Given the description of an element on the screen output the (x, y) to click on. 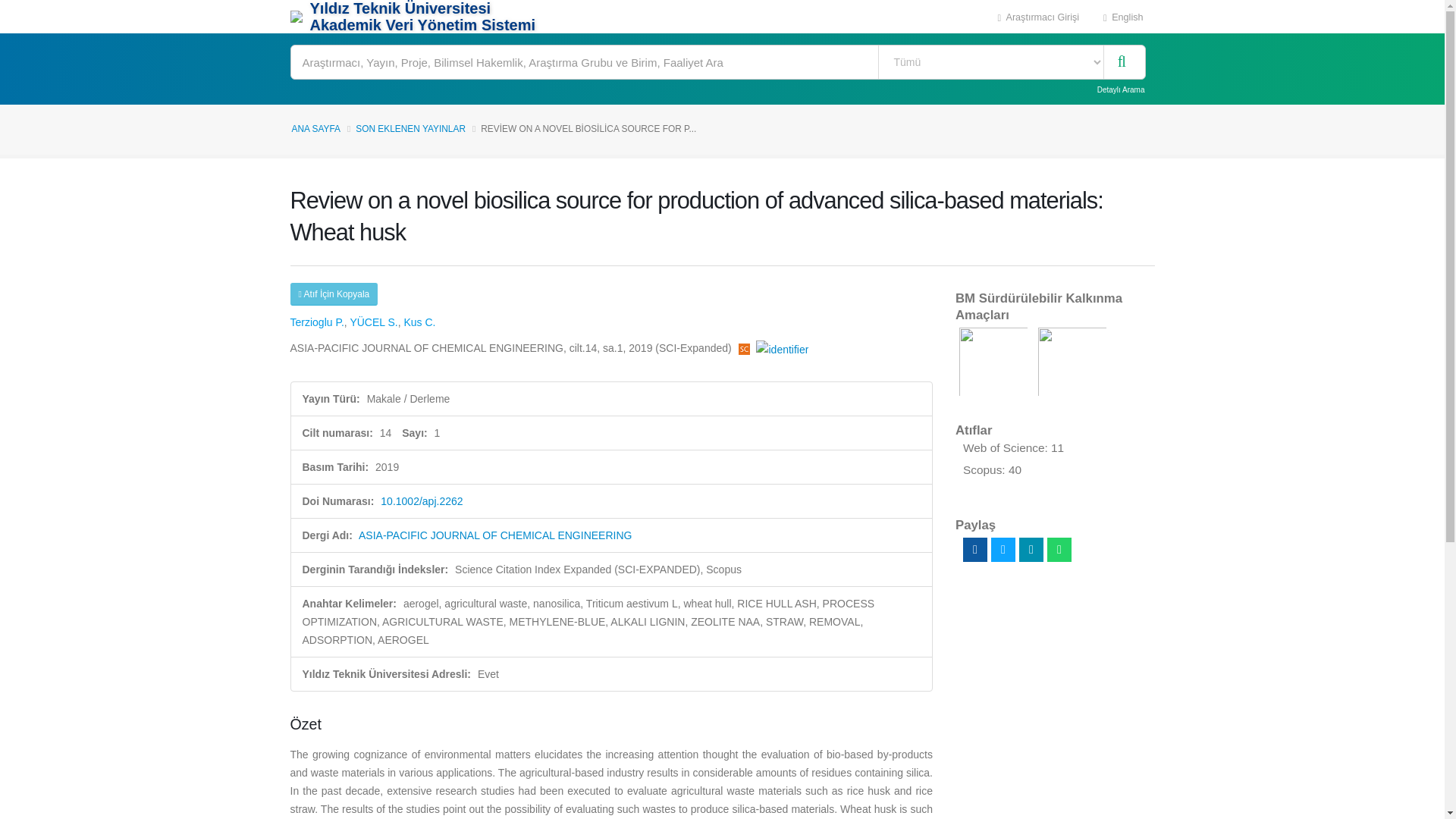
SON EKLENEN YAYINLAR (410, 128)
Cigdem Kus (419, 322)
ANA SAYFA (315, 128)
Pinar Terzioglu (316, 322)
English (1123, 17)
ASIA-PACIFIC JOURNAL OF CHEMICAL ENGINEERING (494, 535)
Kus C. (419, 322)
Terzioglu P. (316, 322)
